Given the description of an element on the screen output the (x, y) to click on. 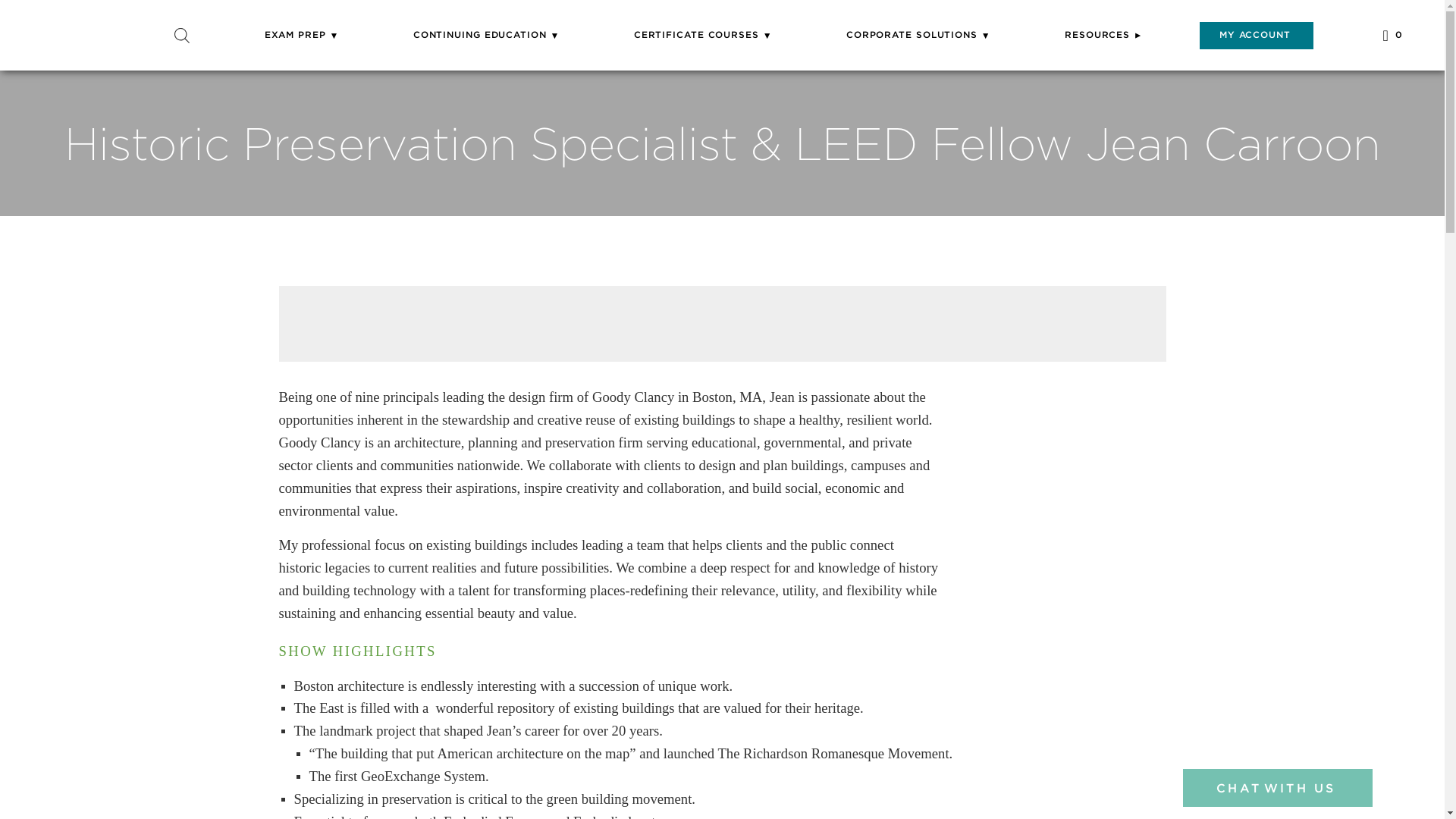
CONTINUING EDUCATION (486, 34)
EXAM PREP (301, 34)
CORPORATE SOLUTIONS (917, 34)
CERTIFICATE COURSES (702, 34)
Log In, Courses, Profile, Account Settings (1256, 34)
View your shopping cart (1392, 35)
